Given the description of an element on the screen output the (x, y) to click on. 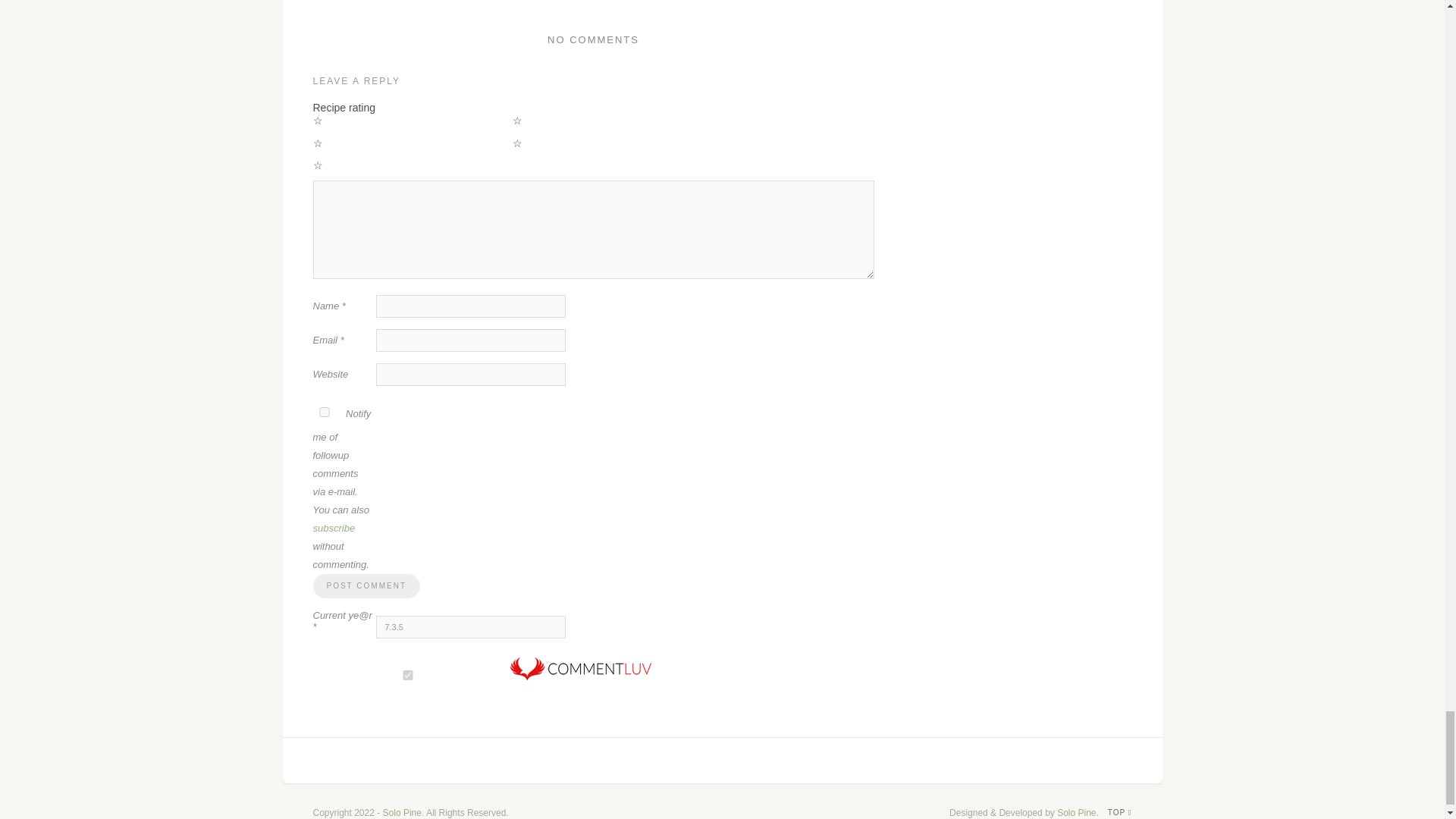
7.3.5 (470, 626)
yes (323, 411)
Post Comment (366, 586)
on (407, 675)
